Given the description of an element on the screen output the (x, y) to click on. 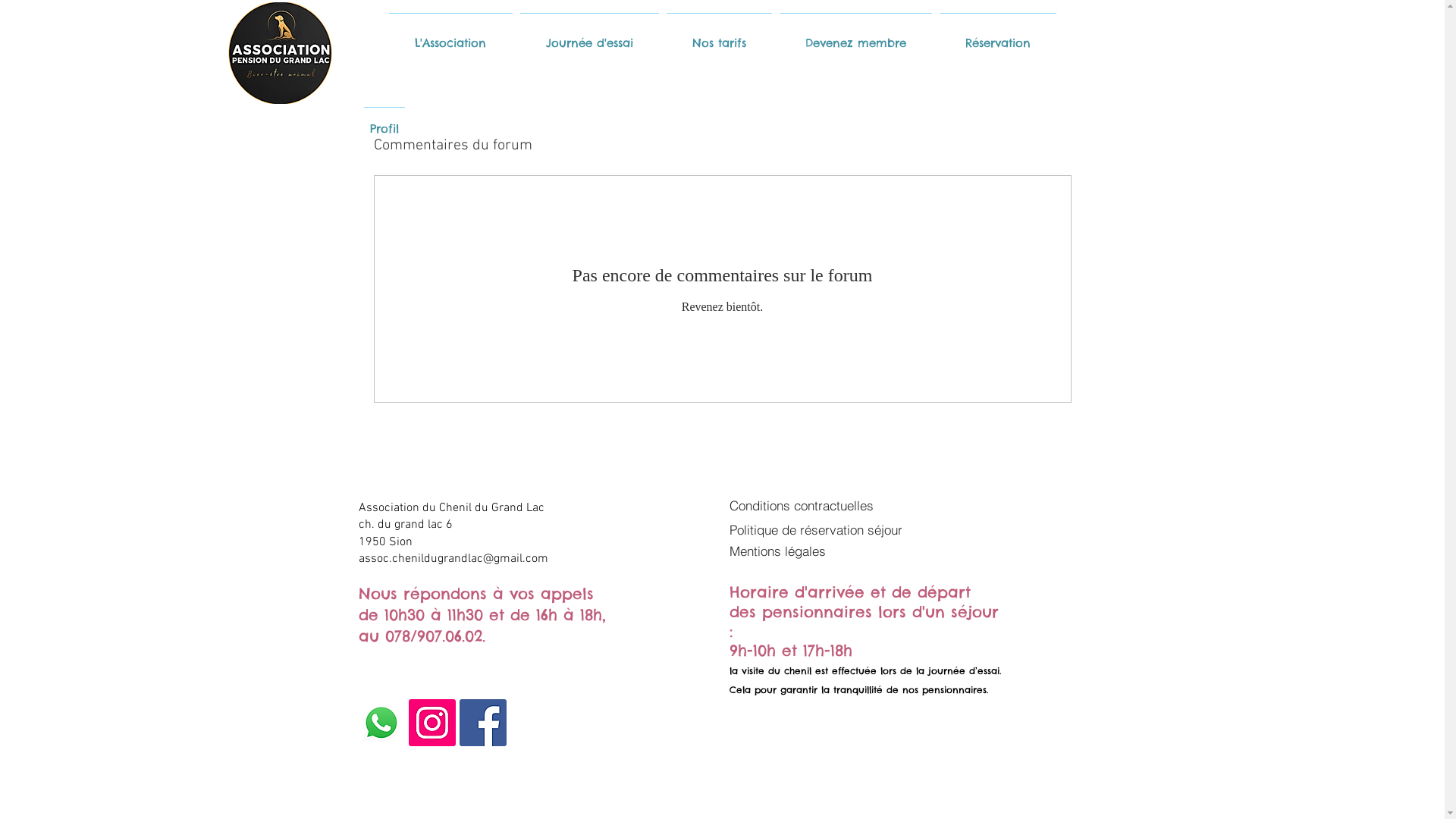
L'Association Element type: text (450, 35)
Conditions contractuelles Element type: text (815, 505)
Profil Element type: text (383, 121)
Nos tarifs Element type: text (718, 35)
assoc.chenildugrandlac@gmail.com Element type: text (452, 558)
Devenez membre Element type: text (855, 35)
